Given the description of an element on the screen output the (x, y) to click on. 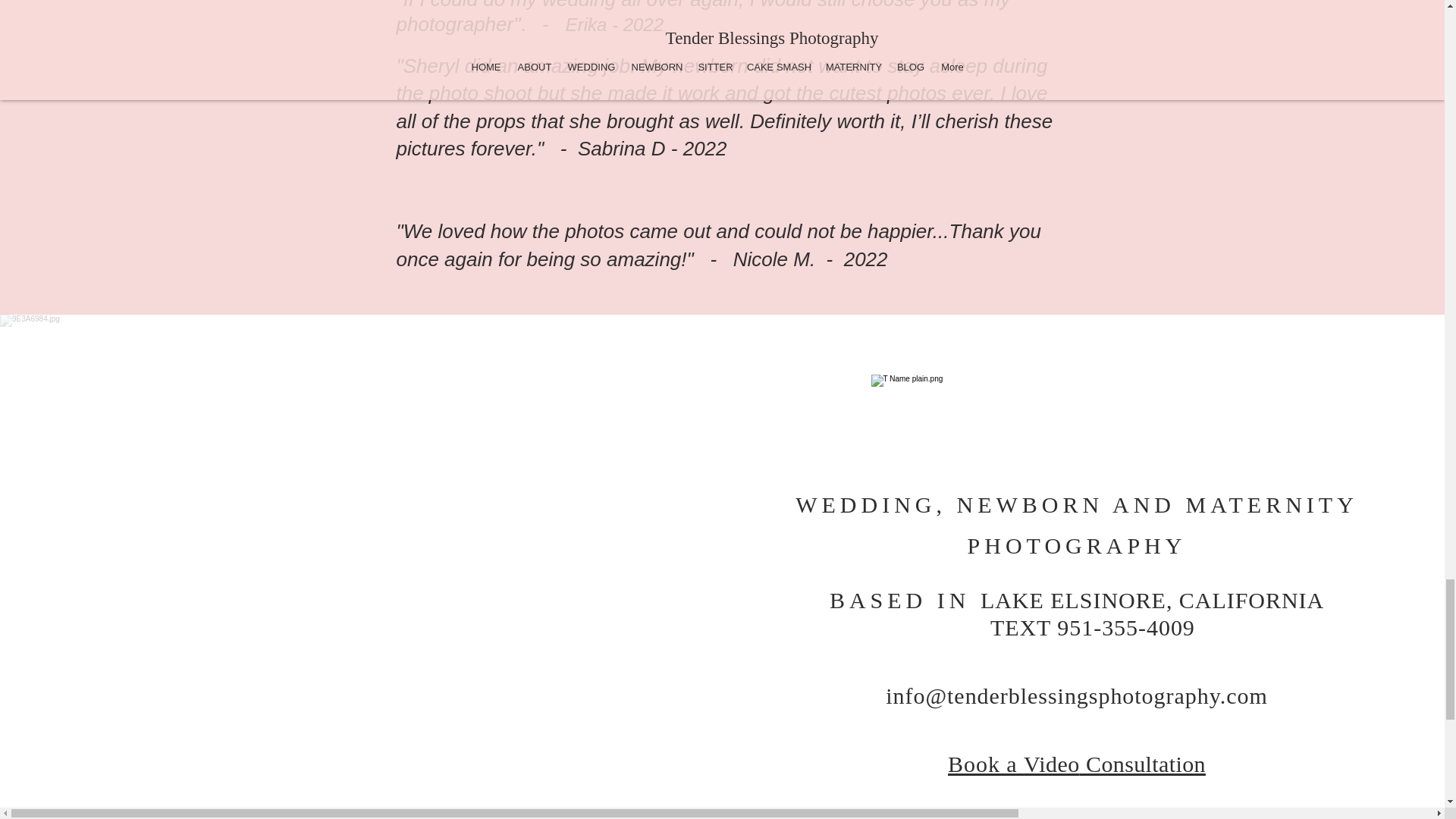
Book a Video Consultation (1076, 763)
